Given the description of an element on the screen output the (x, y) to click on. 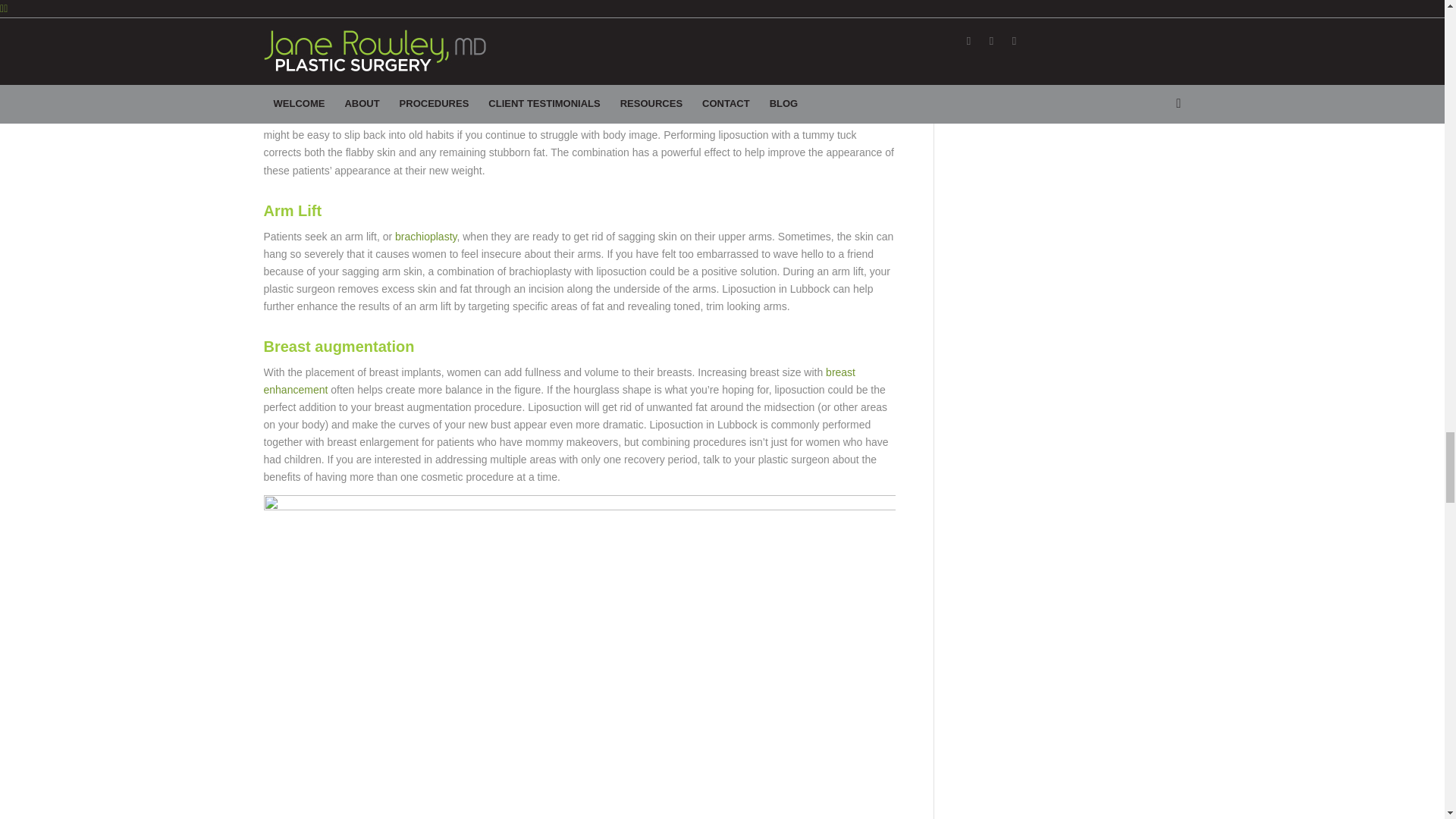
brachioplasty (425, 236)
breast enhancement (559, 380)
